Given the description of an element on the screen output the (x, y) to click on. 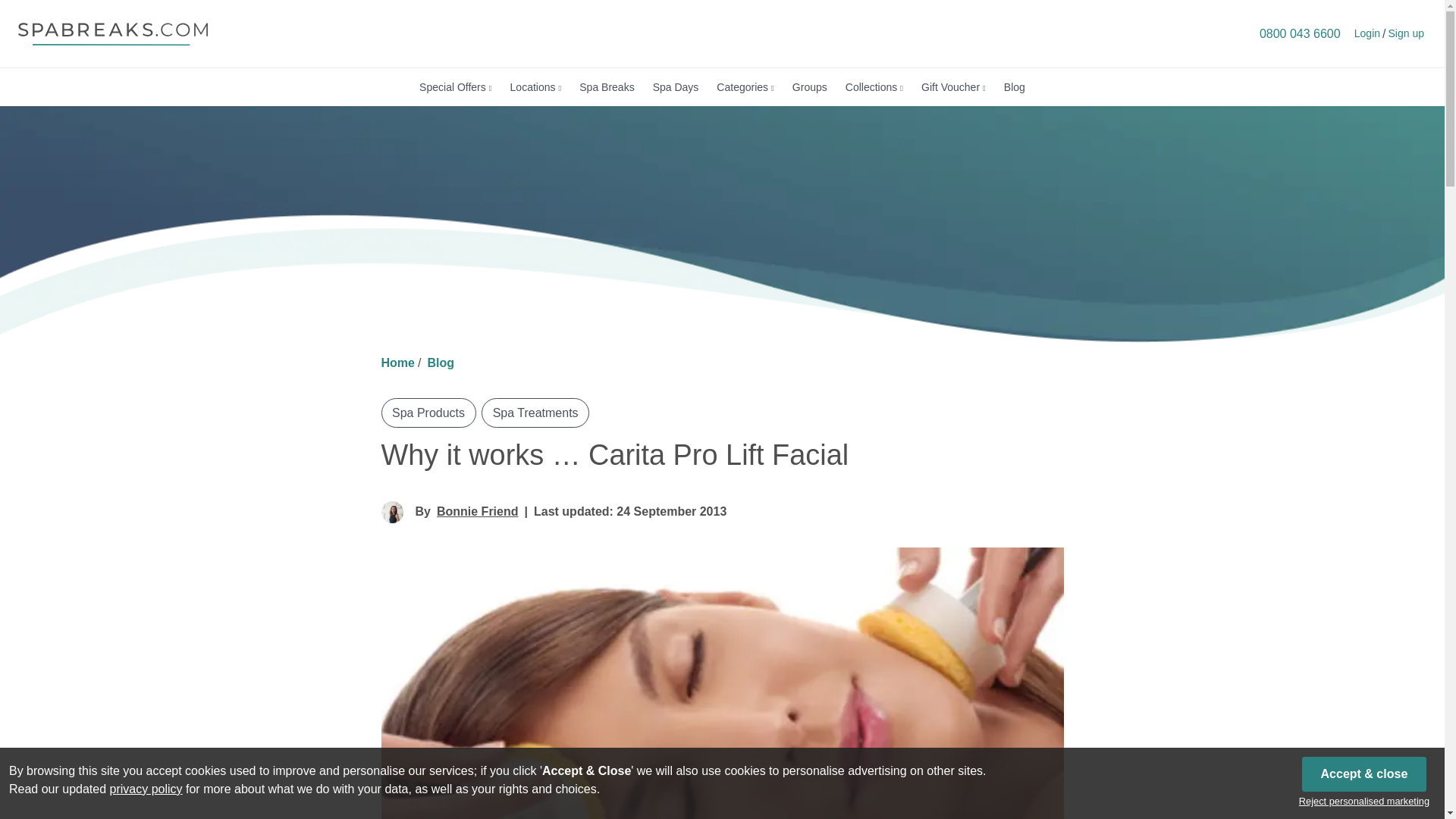
0800 043 6600 (1299, 33)
Spa Breaks (606, 86)
Login (1366, 33)
Sign up (1406, 33)
Spa Days (675, 86)
I do not consent (1363, 800)
Locations (535, 86)
Special Offers (455, 86)
Spabreaks.com (112, 33)
Categories (745, 86)
I consent (1363, 773)
